Given the description of an element on the screen output the (x, y) to click on. 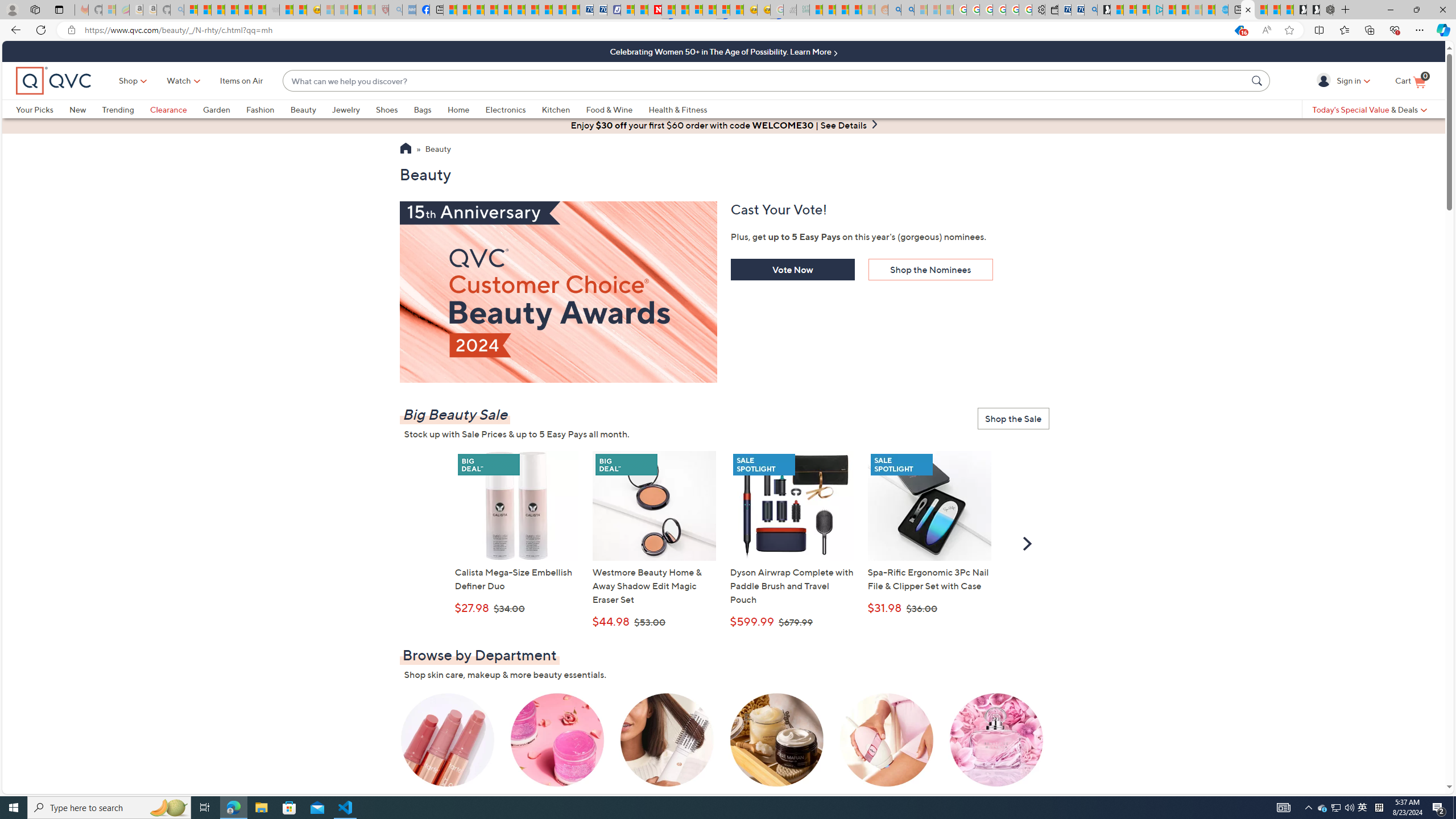
Navy Quest (789, 9)
What can we help you discover? (764, 80)
Recipes - MSN - Sleeping (327, 9)
NCL Adult Asthma Inhaler Choice Guideline - Sleeping (408, 9)
Kitchen (555, 109)
